Given the description of an element on the screen output the (x, y) to click on. 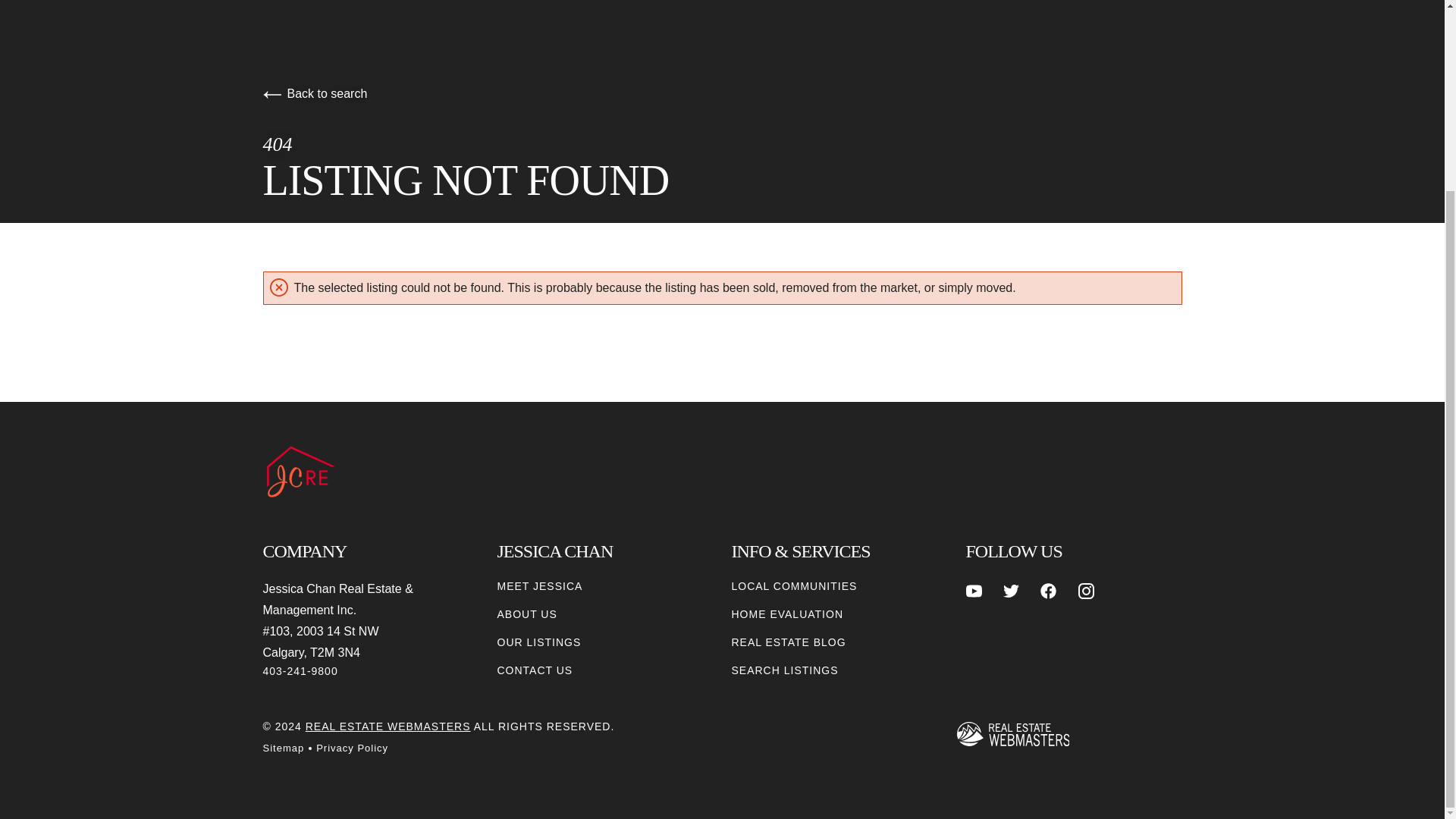
TWITTER (1011, 590)
FACEBOOK (1049, 590)
YOUTUBE (973, 590)
